Given the description of an element on the screen output the (x, y) to click on. 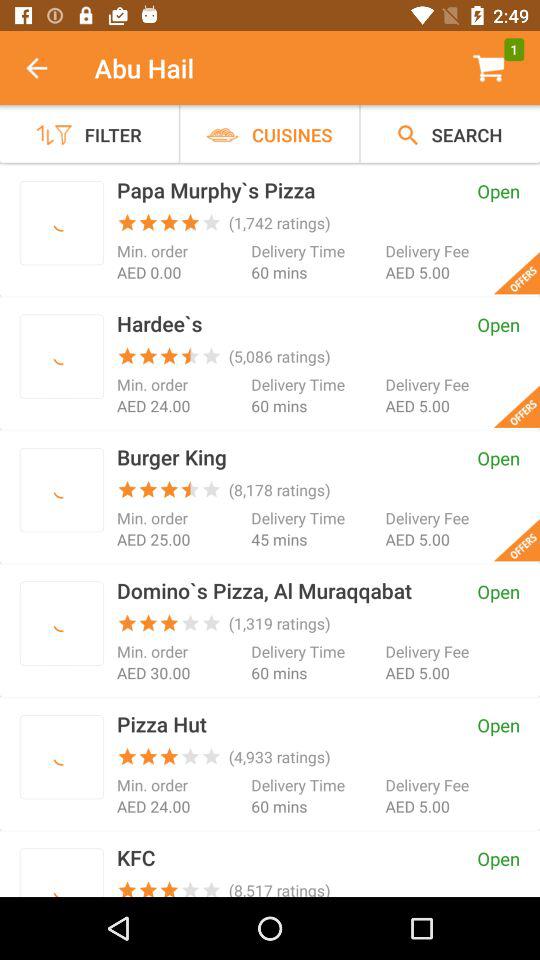
the fast food are very tasty (61, 756)
